Given the description of an element on the screen output the (x, y) to click on. 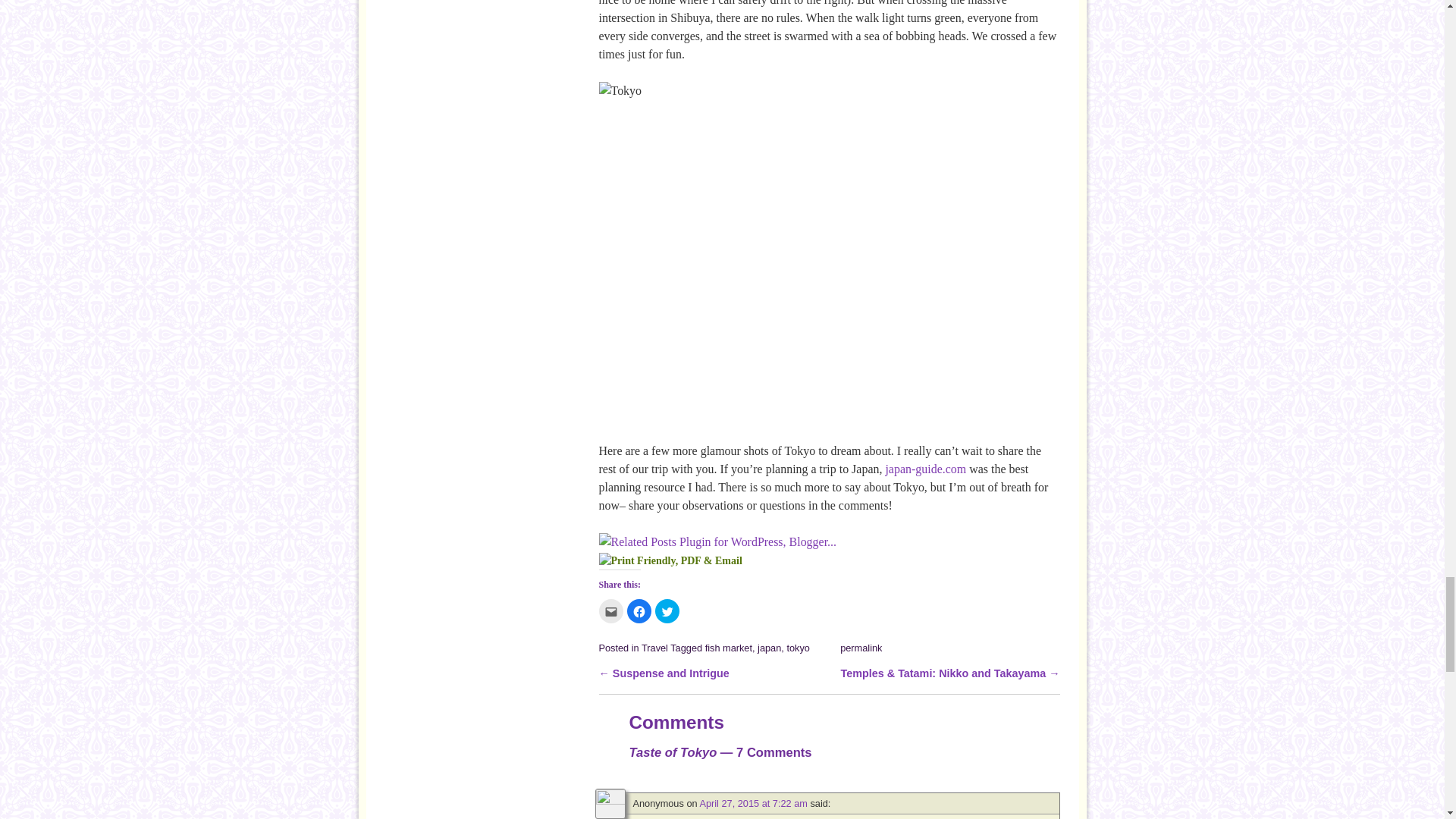
Travel (655, 647)
japan-guide.com (925, 468)
Click to share on Facebook (638, 610)
Permalink to Taste of Tokyo (861, 647)
Click to email this to a friend (610, 610)
Click to share on Twitter (667, 610)
